Given the description of an element on the screen output the (x, y) to click on. 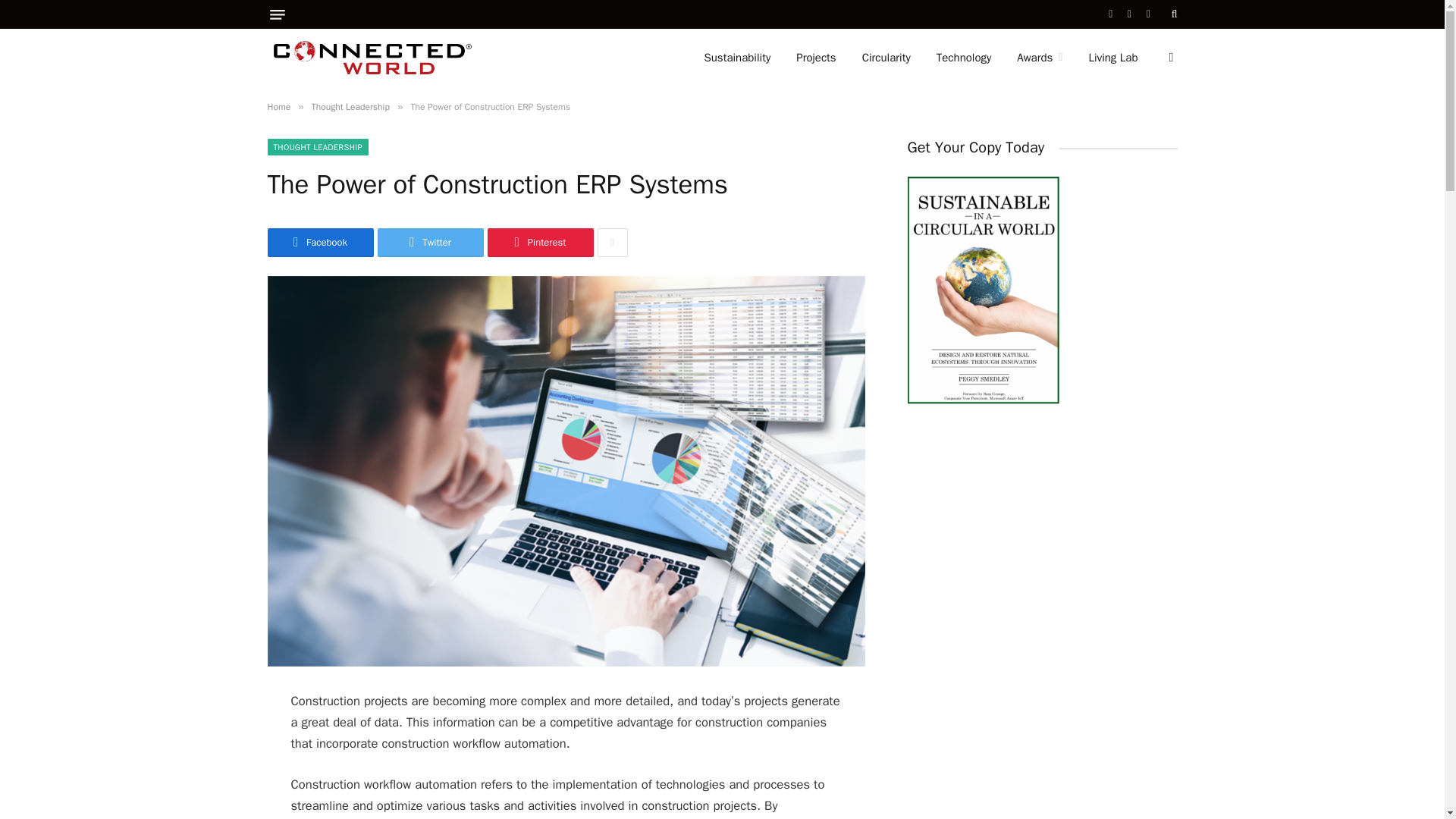
Awards (1039, 57)
Share on Facebook (319, 242)
Thought Leadership (350, 106)
Circularity (885, 57)
Pinterest (539, 242)
Sustainability (736, 57)
Connected World (371, 57)
Home (277, 106)
Share on Pinterest (539, 242)
Technology (963, 57)
Projects (815, 57)
Facebook (319, 242)
Switch to Dark Design - easier on eyes. (1168, 57)
Share on Twitter (430, 242)
Twitter (430, 242)
